Given the description of an element on the screen output the (x, y) to click on. 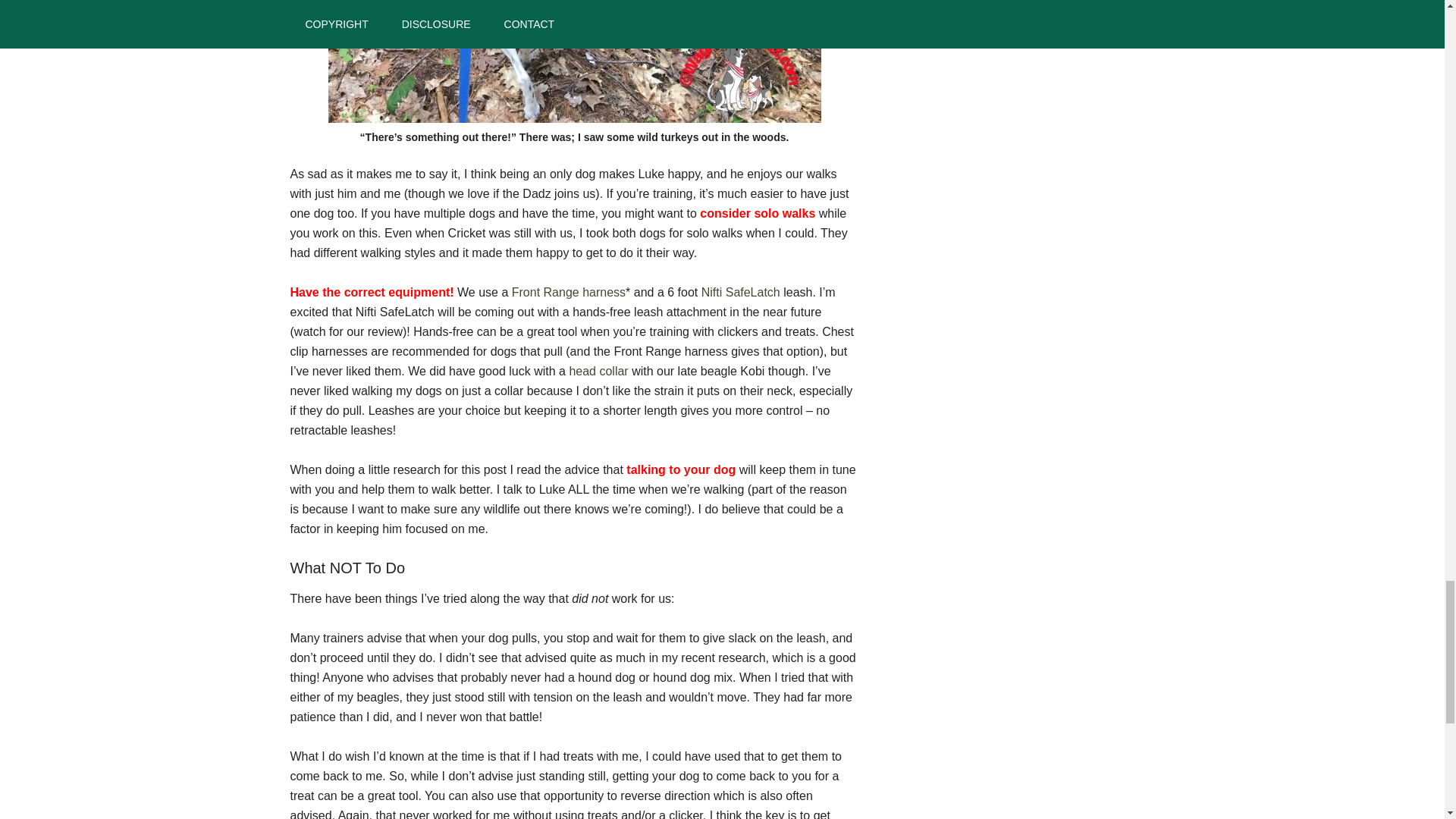
Front Range harness (569, 291)
head collar (598, 370)
Nifti SafeLatch (740, 291)
